Given the description of an element on the screen output the (x, y) to click on. 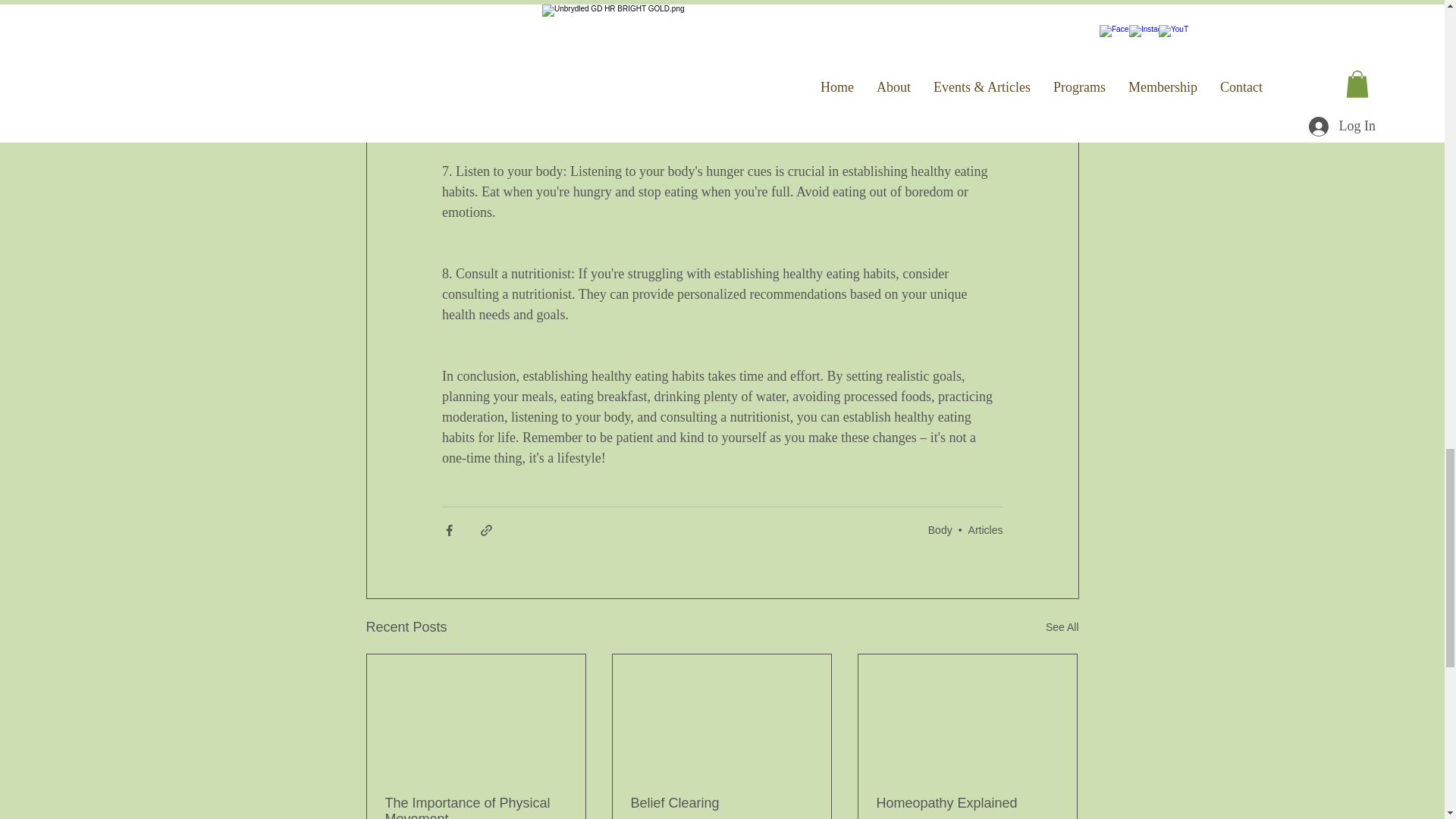
Body (940, 530)
Homeopathy Explained (967, 803)
See All (1061, 627)
The Importance of Physical Movement (476, 807)
Belief Clearing (721, 803)
Articles (985, 530)
